Given the description of an element on the screen output the (x, y) to click on. 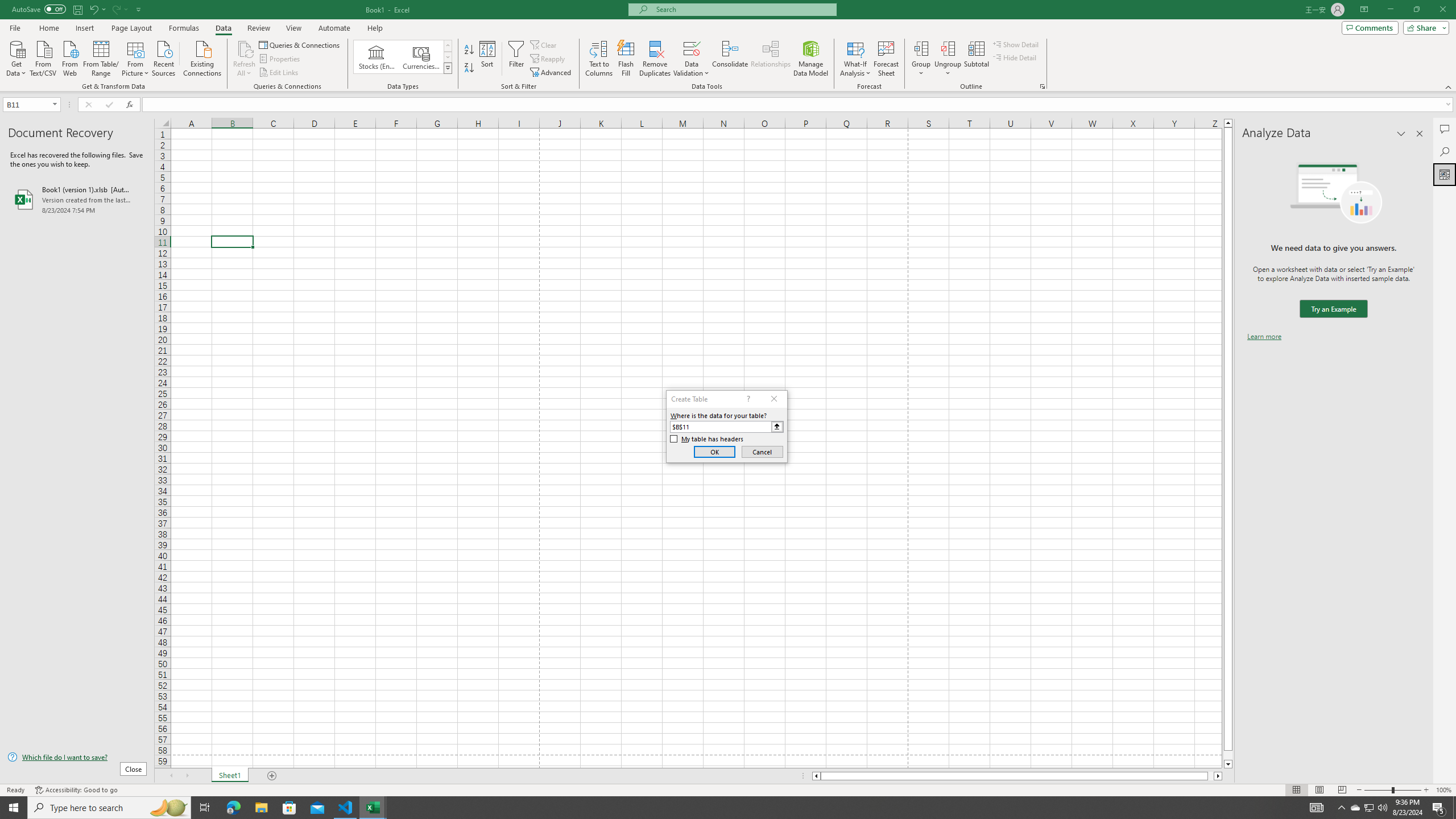
Consolidate... (729, 58)
